Given the description of an element on the screen output the (x, y) to click on. 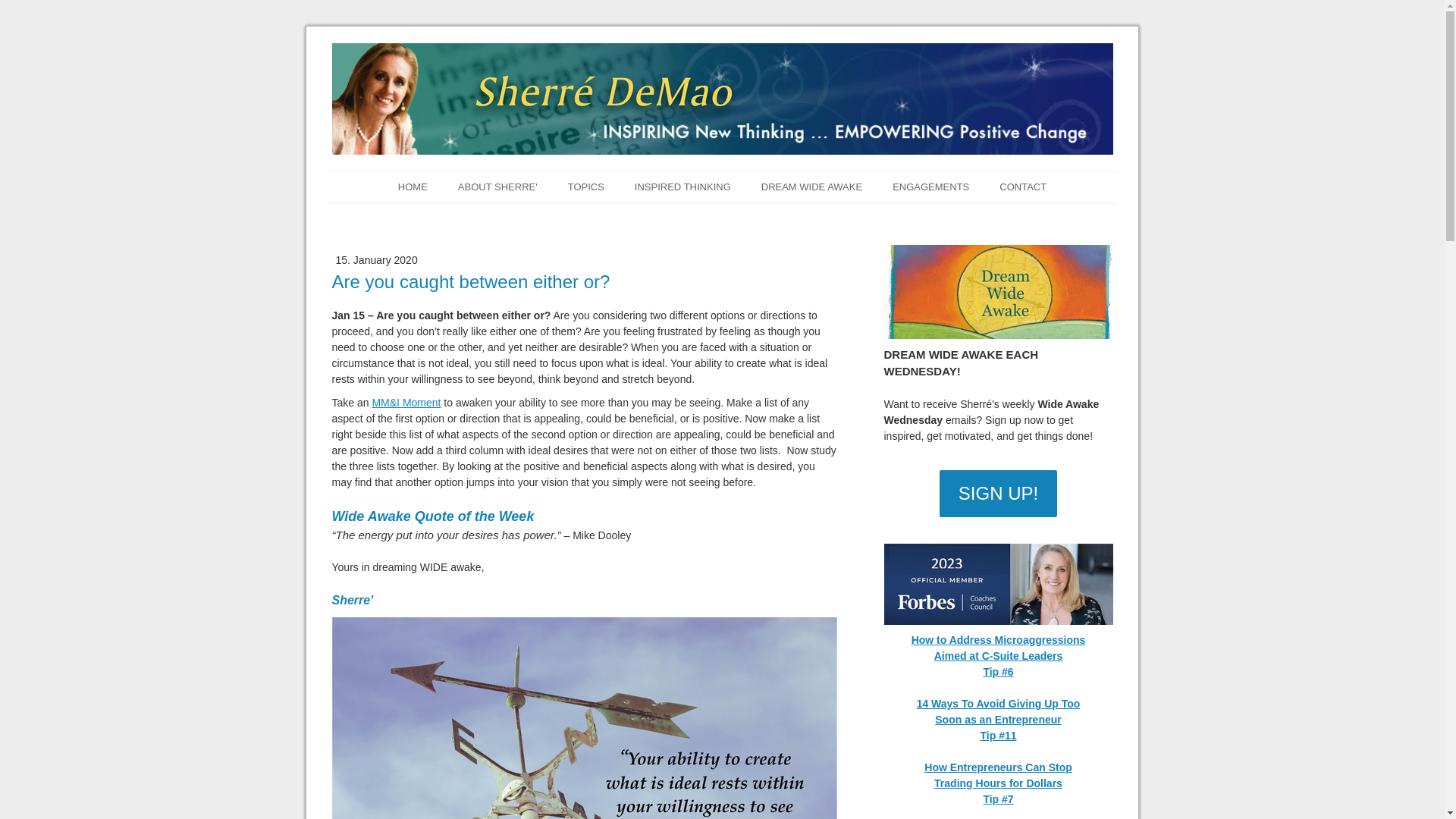
How Entrepreneurs Can Stop (997, 767)
How to Address Microaggressions (998, 639)
TOPICS (586, 186)
CONTACT (1022, 186)
Soon as an Entrepreneur (997, 719)
SIGN UP! (998, 493)
Aimed at C-Suite Leaders (998, 655)
ENGAGEMENTS (930, 186)
ABOUT SHERRE' (497, 186)
HOME (412, 186)
